Given the description of an element on the screen output the (x, y) to click on. 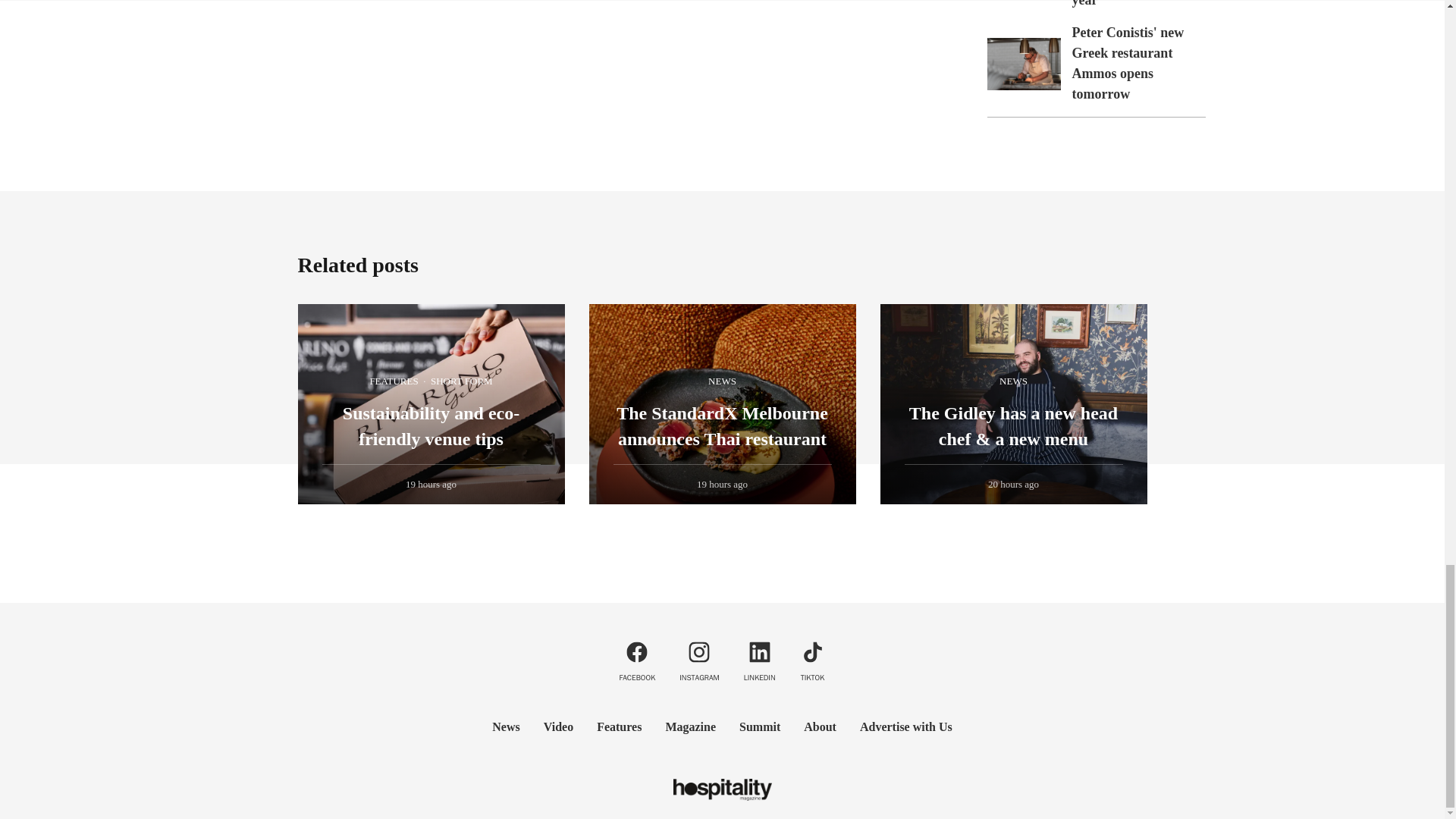
Peter Conistis' new Greek restaurant Ammos opens tomorrow (1024, 63)
Peter Conistis' new Greek restaurant Ammos opens tomorrow (1128, 63)
View all posts in Short Form (461, 381)
View all posts in Features (394, 381)
